Given the description of an element on the screen output the (x, y) to click on. 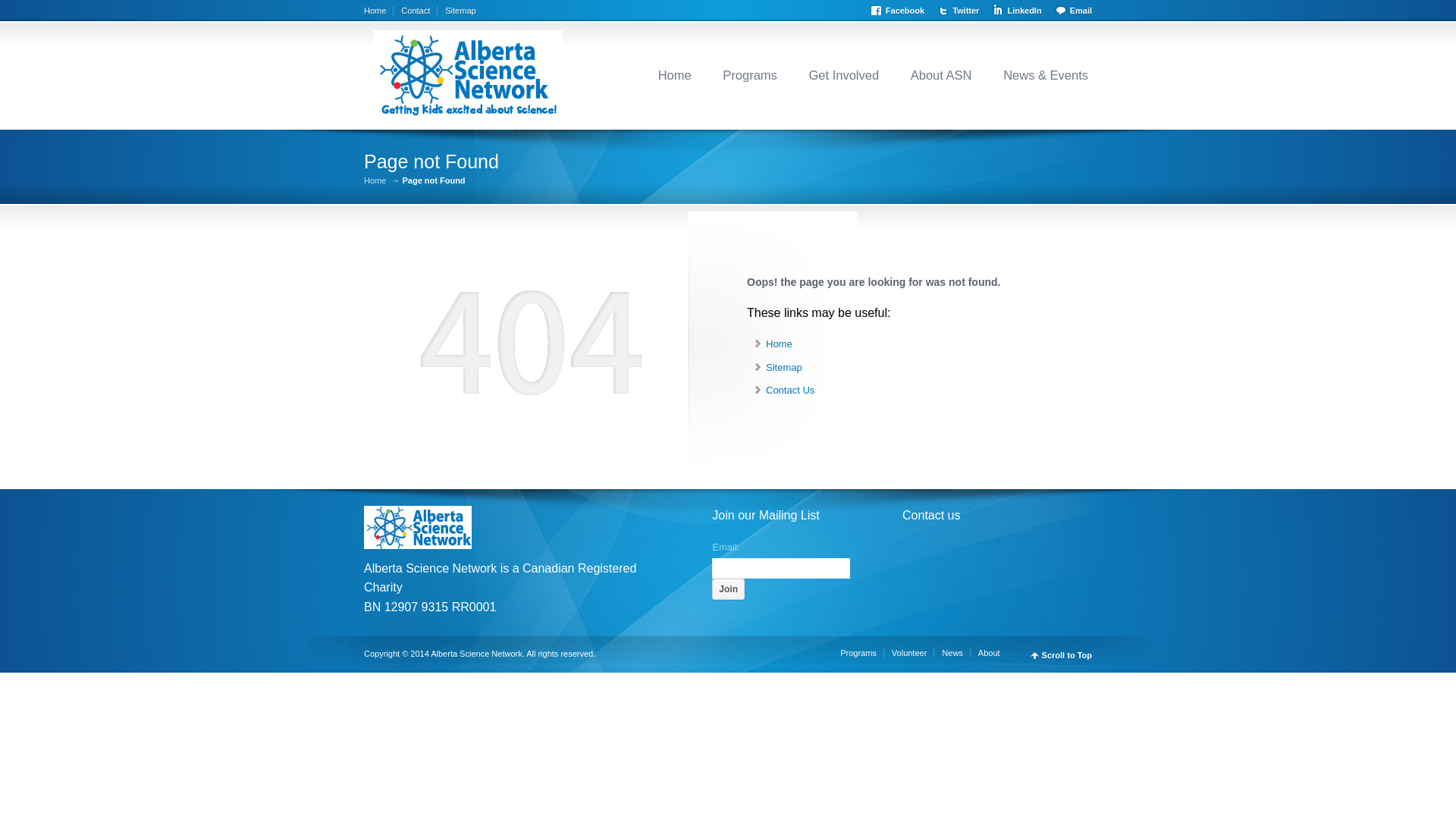
About Element type: text (992, 652)
Facebook Element type: text (900, 8)
Home Element type: text (674, 74)
Contact us Element type: text (931, 514)
Contact Element type: text (419, 10)
Contact Us Element type: text (789, 389)
About ASN Element type: text (940, 74)
Join Element type: text (728, 588)
Sitemap Element type: text (783, 367)
Twitter Element type: text (960, 8)
Home Element type: text (378, 10)
Volunteer Element type: text (912, 652)
Home Element type: text (374, 180)
Sitemap Element type: text (460, 10)
News Element type: text (955, 652)
Programs Element type: text (862, 652)
Programs Element type: text (749, 74)
LinkedIn Element type: text (1019, 8)
Scroll to Top Element type: text (1061, 655)
Home Element type: text (778, 343)
Get Involved Element type: text (844, 74)
Email Element type: text (1072, 8)
News & Events Element type: text (1045, 74)
